Given the description of an element on the screen output the (x, y) to click on. 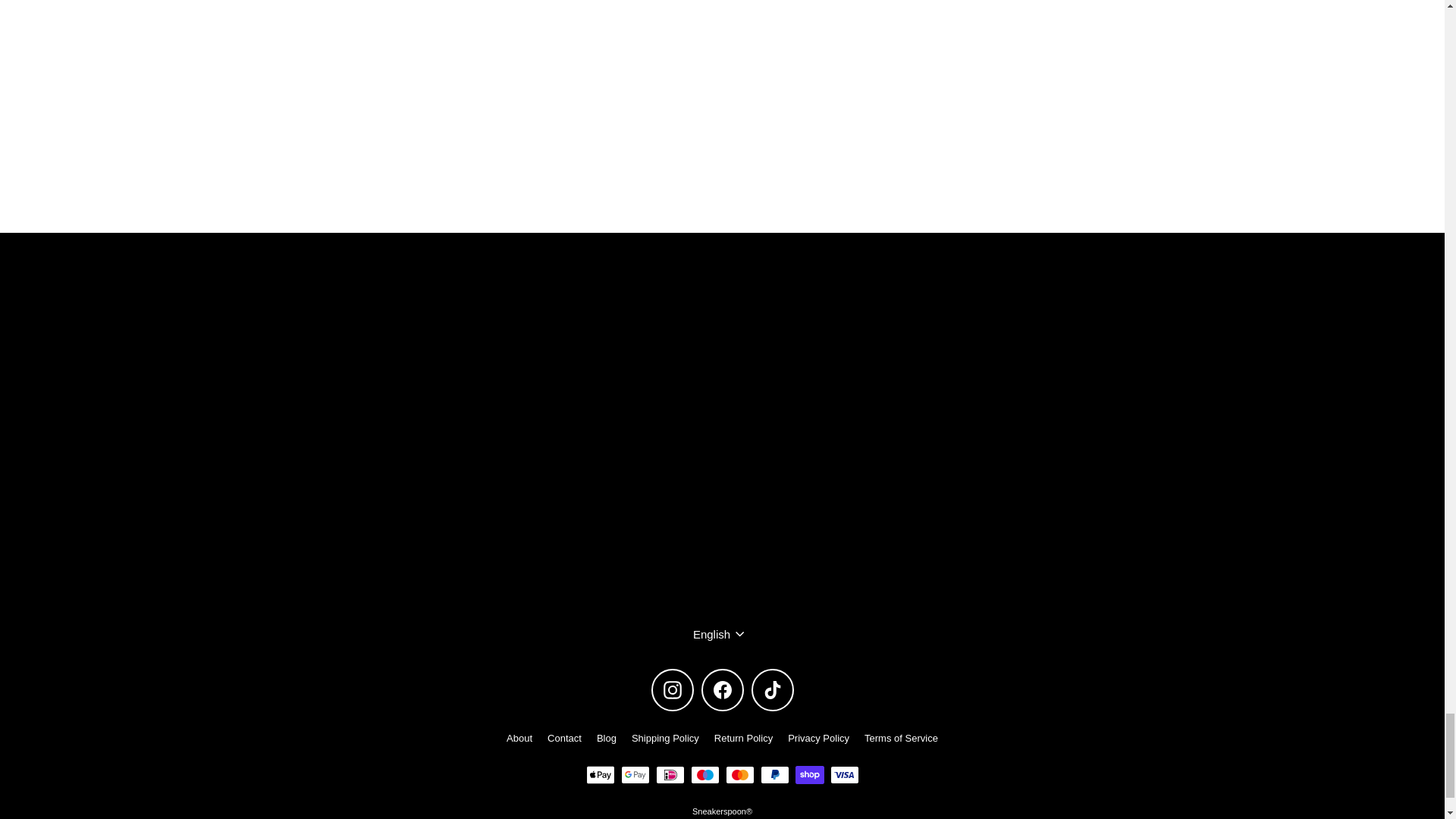
PayPal (774, 774)
iDEAL (669, 774)
Mastercard (739, 774)
Google Pay (634, 774)
Visa (844, 774)
Maestro (704, 774)
Apple Pay (599, 774)
instagram (671, 689)
Shop Pay (809, 774)
